Given the description of an element on the screen output the (x, y) to click on. 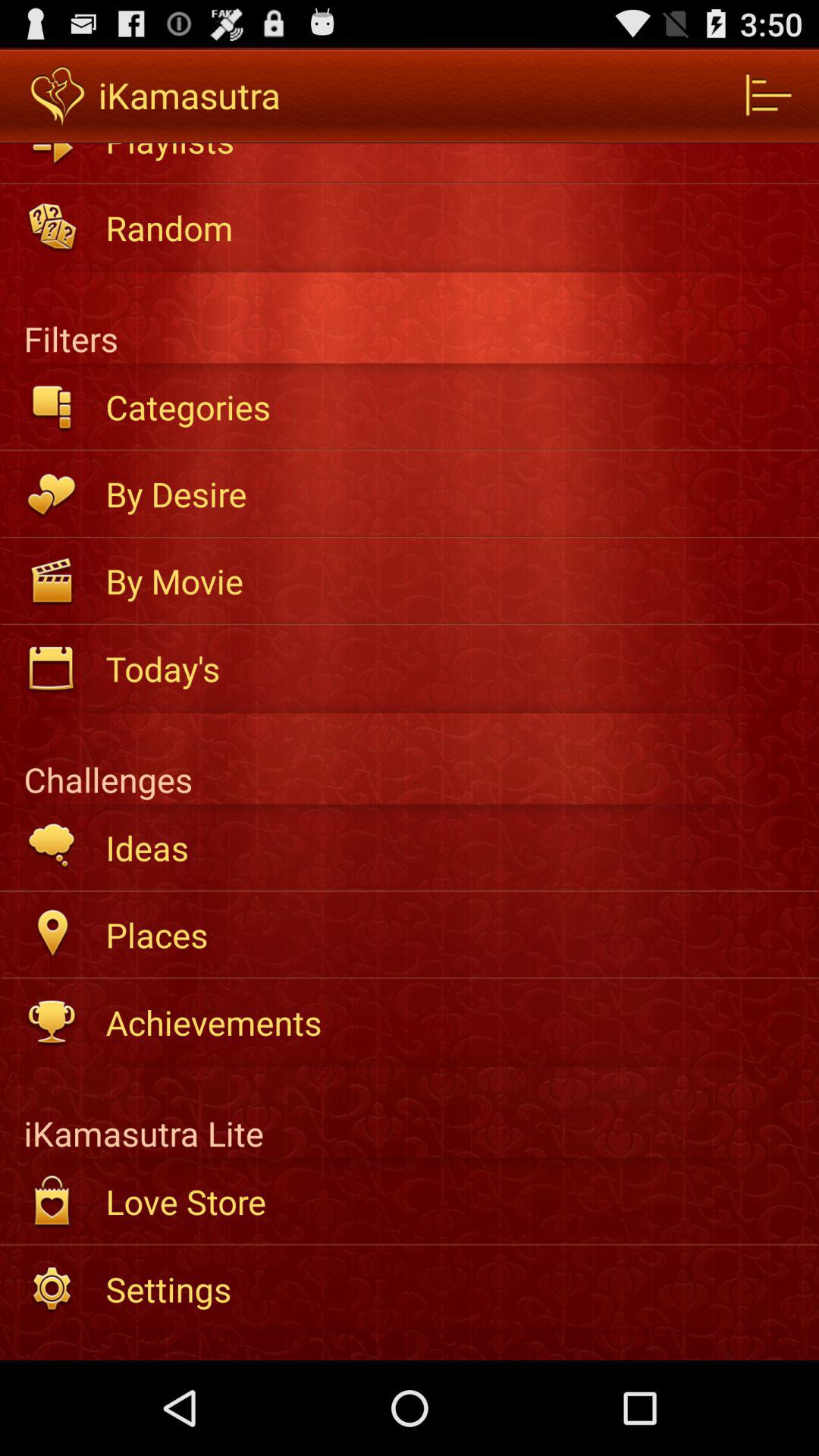
jump until ideas icon (452, 847)
